Given the description of an element on the screen output the (x, y) to click on. 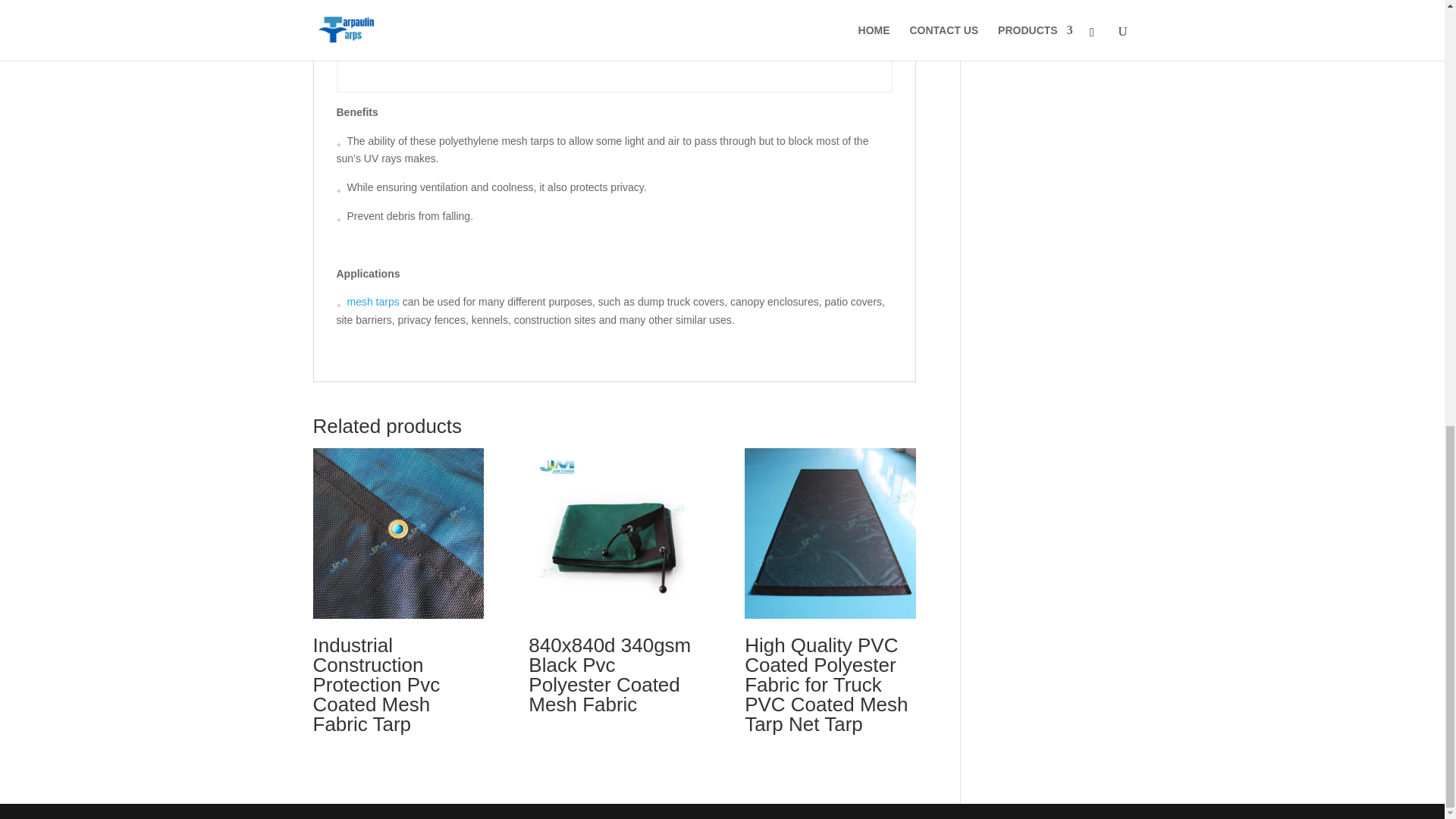
mesh tarps (372, 301)
mesh tarps (372, 301)
